Given the description of an element on the screen output the (x, y) to click on. 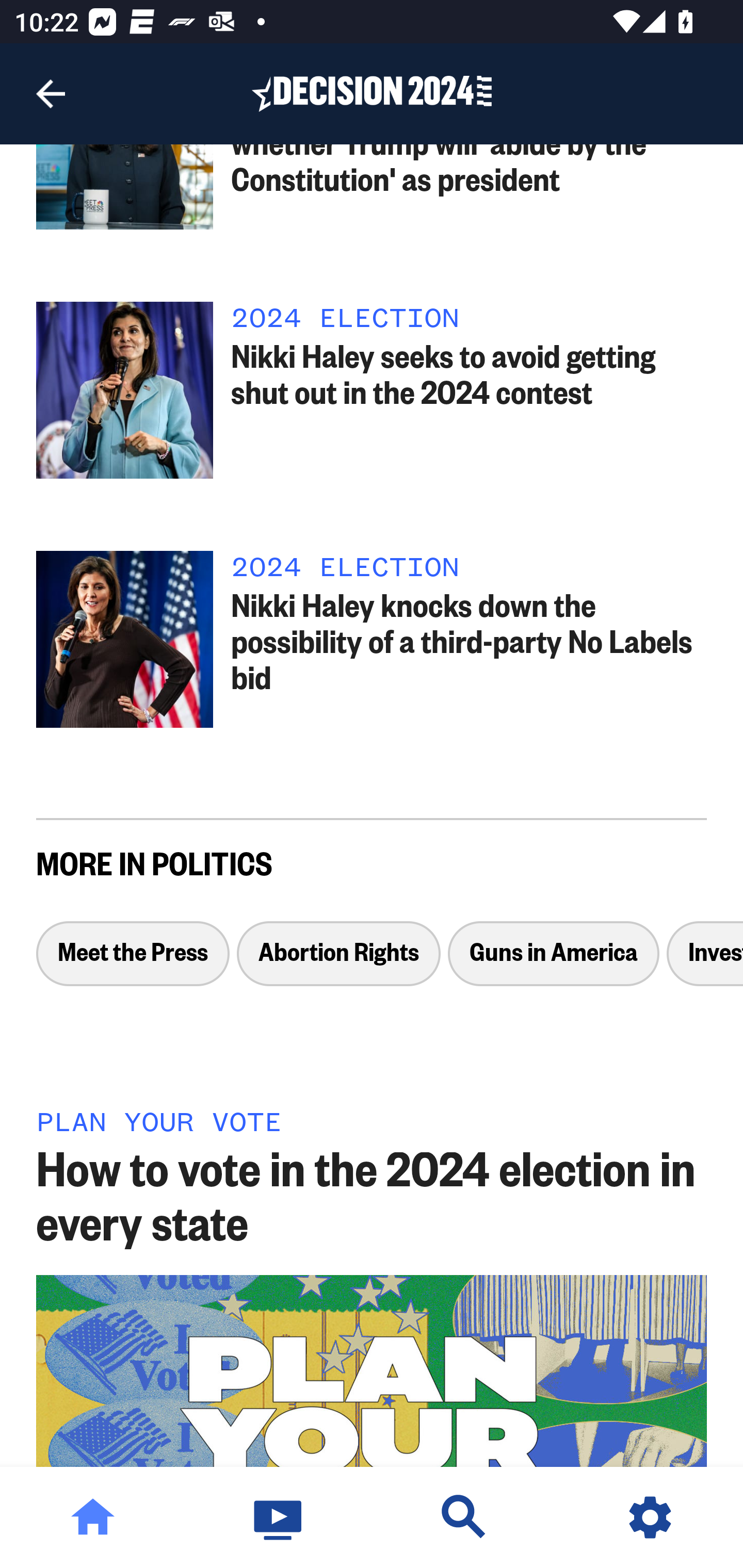
Navigate up (50, 93)
Meet the Press (132, 962)
Abortion Rights (338, 962)
Guns in America (553, 962)
Watch (278, 1517)
Discover (464, 1517)
Settings (650, 1517)
